Given the description of an element on the screen output the (x, y) to click on. 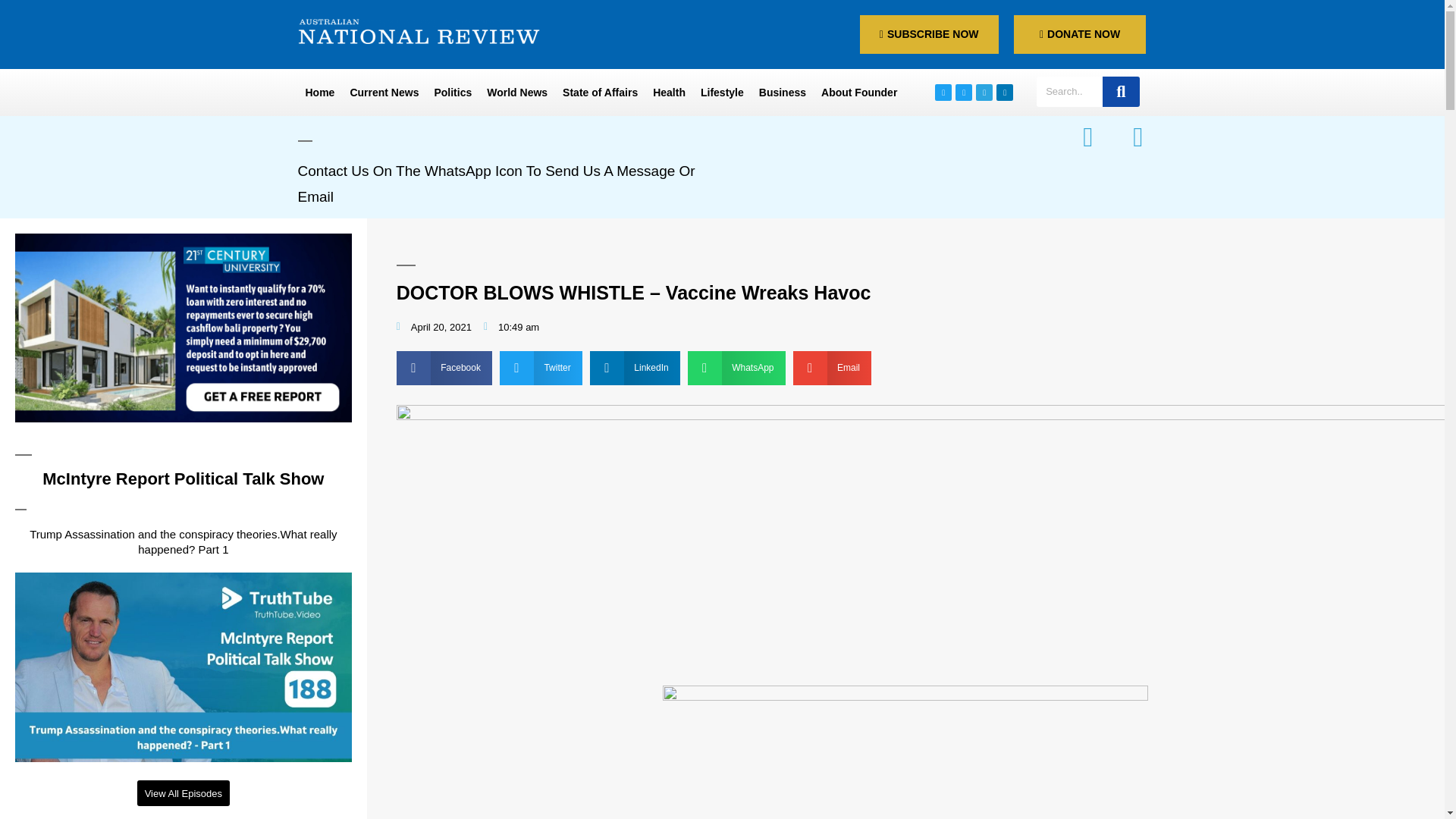
Business (782, 92)
World News (516, 92)
About Founder (858, 92)
Current News (384, 92)
Politics (452, 92)
Health (669, 92)
State of Affairs (599, 92)
SUBSCRIBE NOW (929, 34)
View All Episodes (183, 792)
